Given the description of an element on the screen output the (x, y) to click on. 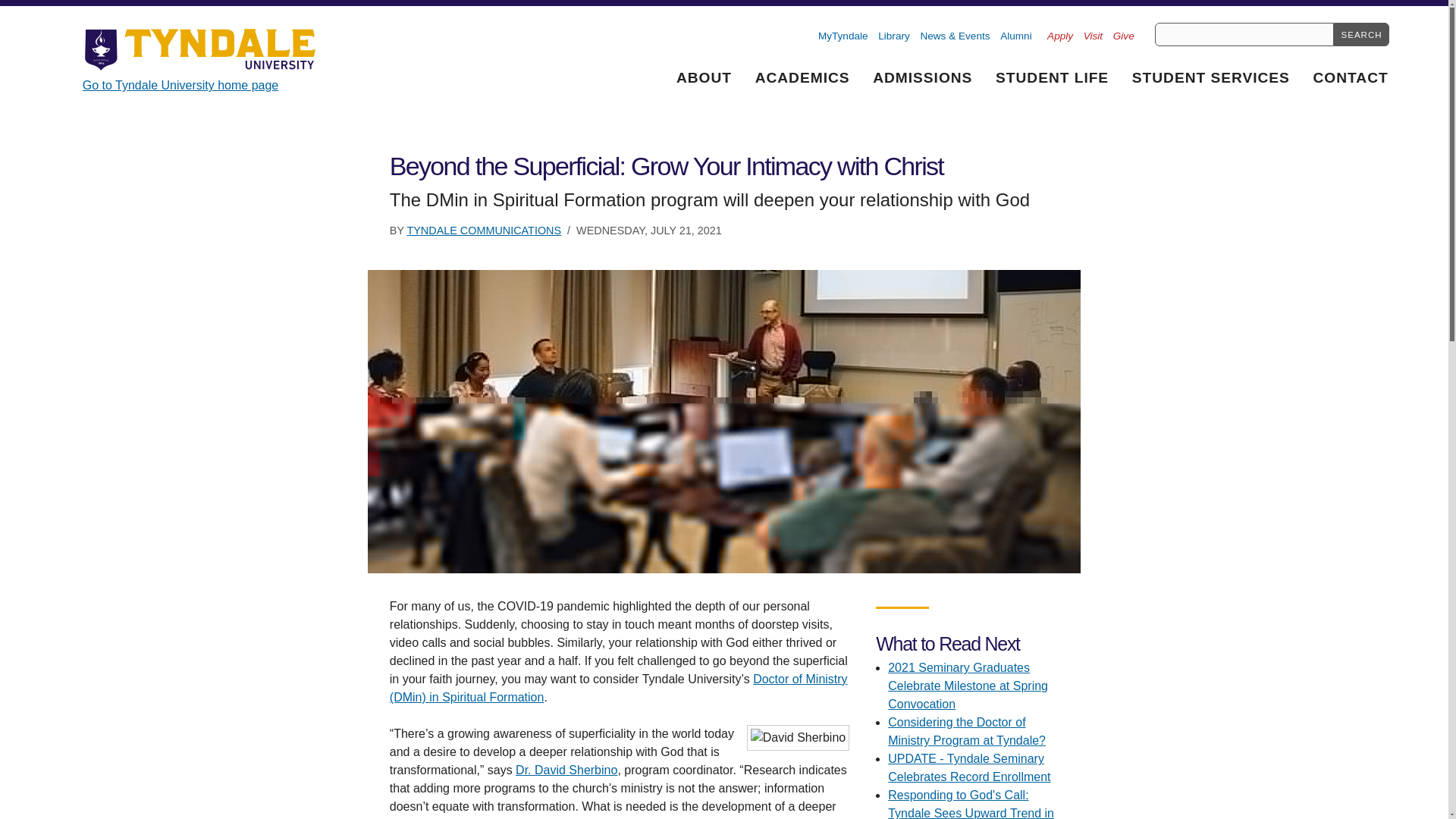
Go to Tyndale University home page (203, 60)
STUDENT LIFE (1052, 75)
ADMISSIONS (922, 75)
Search (1361, 33)
STUDENT SERVICES (1210, 75)
ACADEMICS (801, 75)
Search (1361, 33)
ABOUT (704, 75)
